Given the description of an element on the screen output the (x, y) to click on. 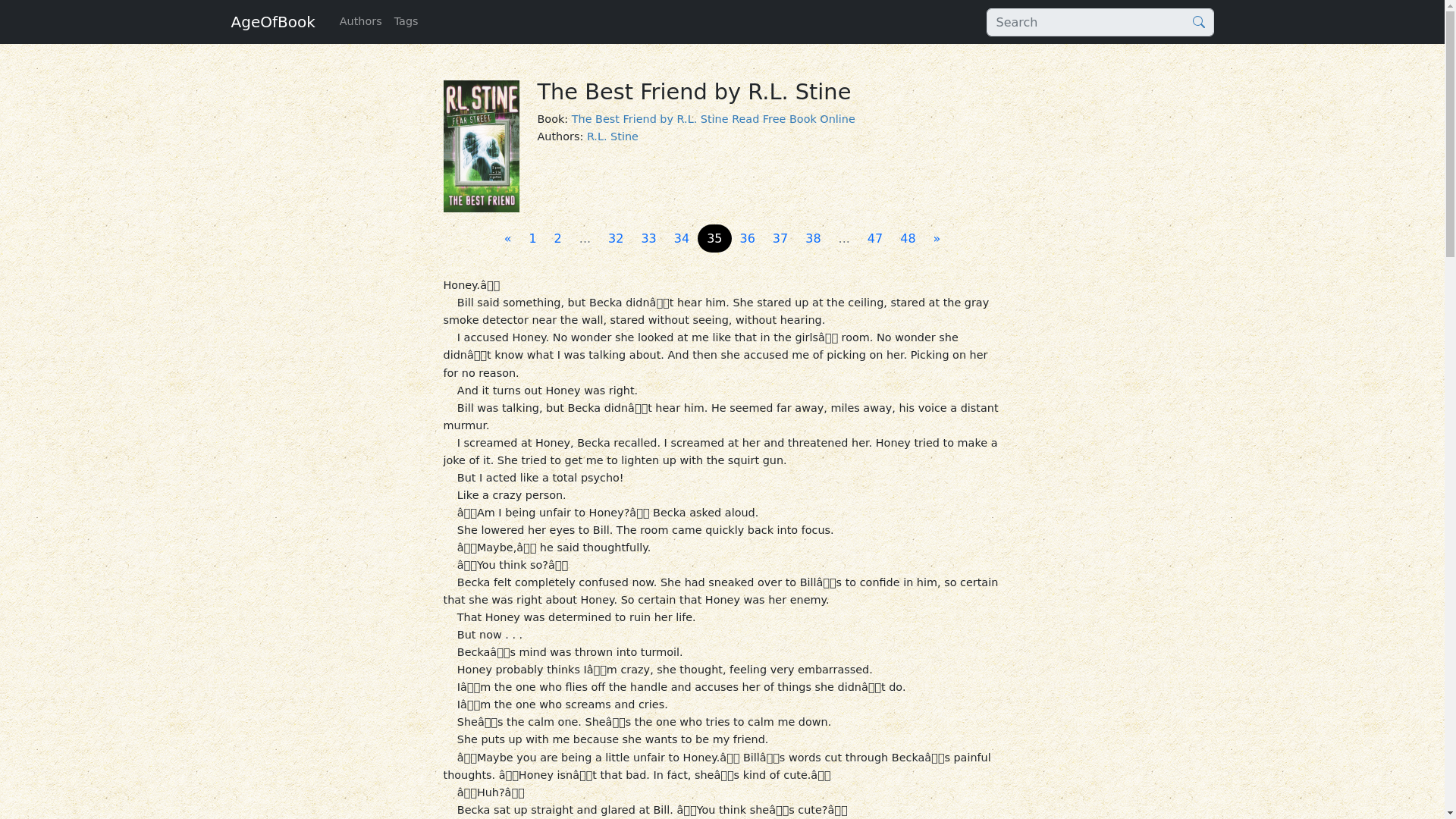
AgeOfBook (272, 21)
Tags (406, 21)
32 (614, 238)
2 (557, 238)
33 (648, 238)
35 (713, 238)
47 (875, 238)
The Best Friend by R.L. Stine Read Free Book Online (714, 119)
48 (907, 238)
36 (747, 238)
34 (681, 238)
Authors (360, 21)
38 (812, 238)
... (584, 238)
1 (531, 238)
